Given the description of an element on the screen output the (x, y) to click on. 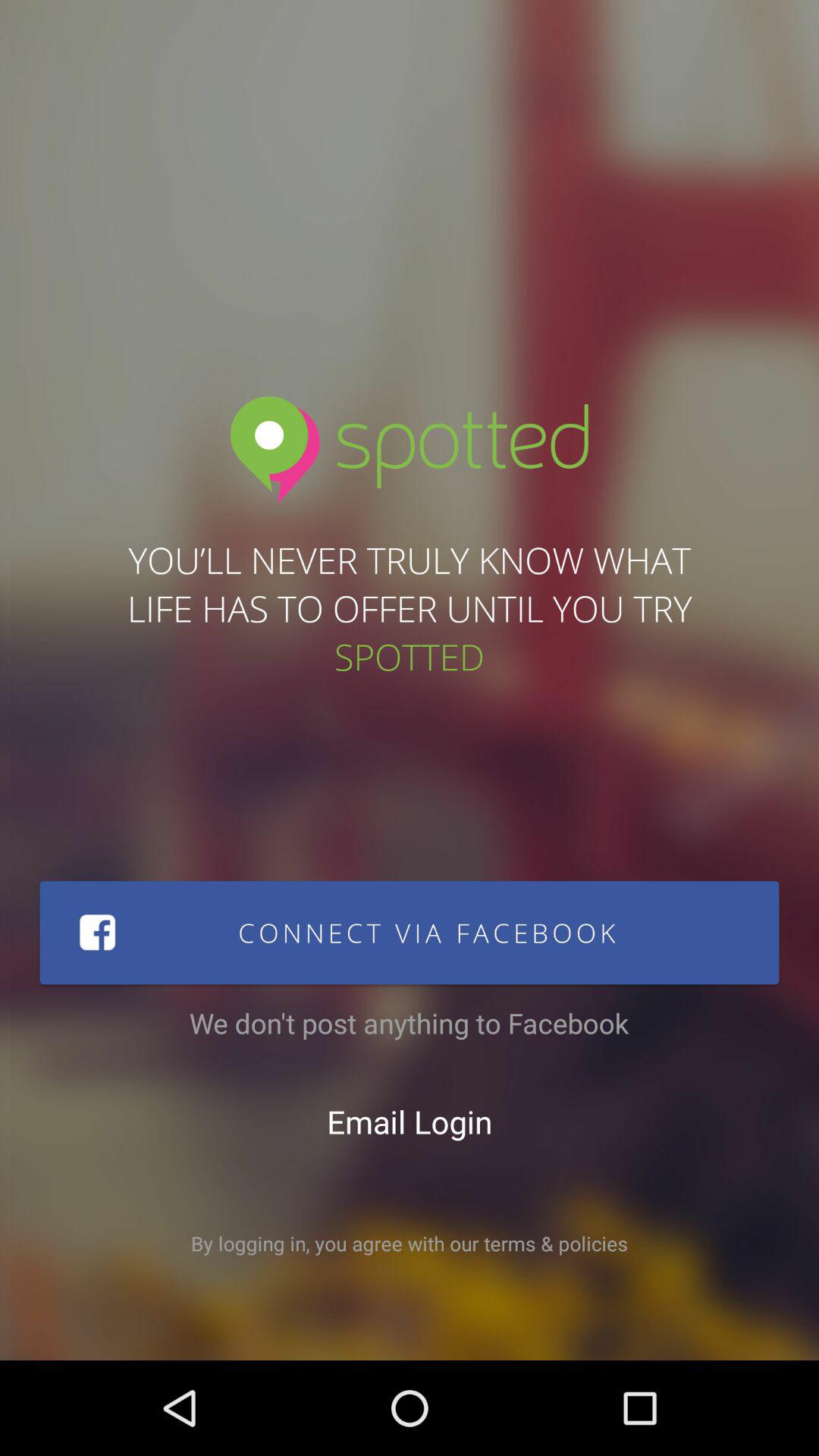
open item above we don t icon (409, 932)
